Given the description of an element on the screen output the (x, y) to click on. 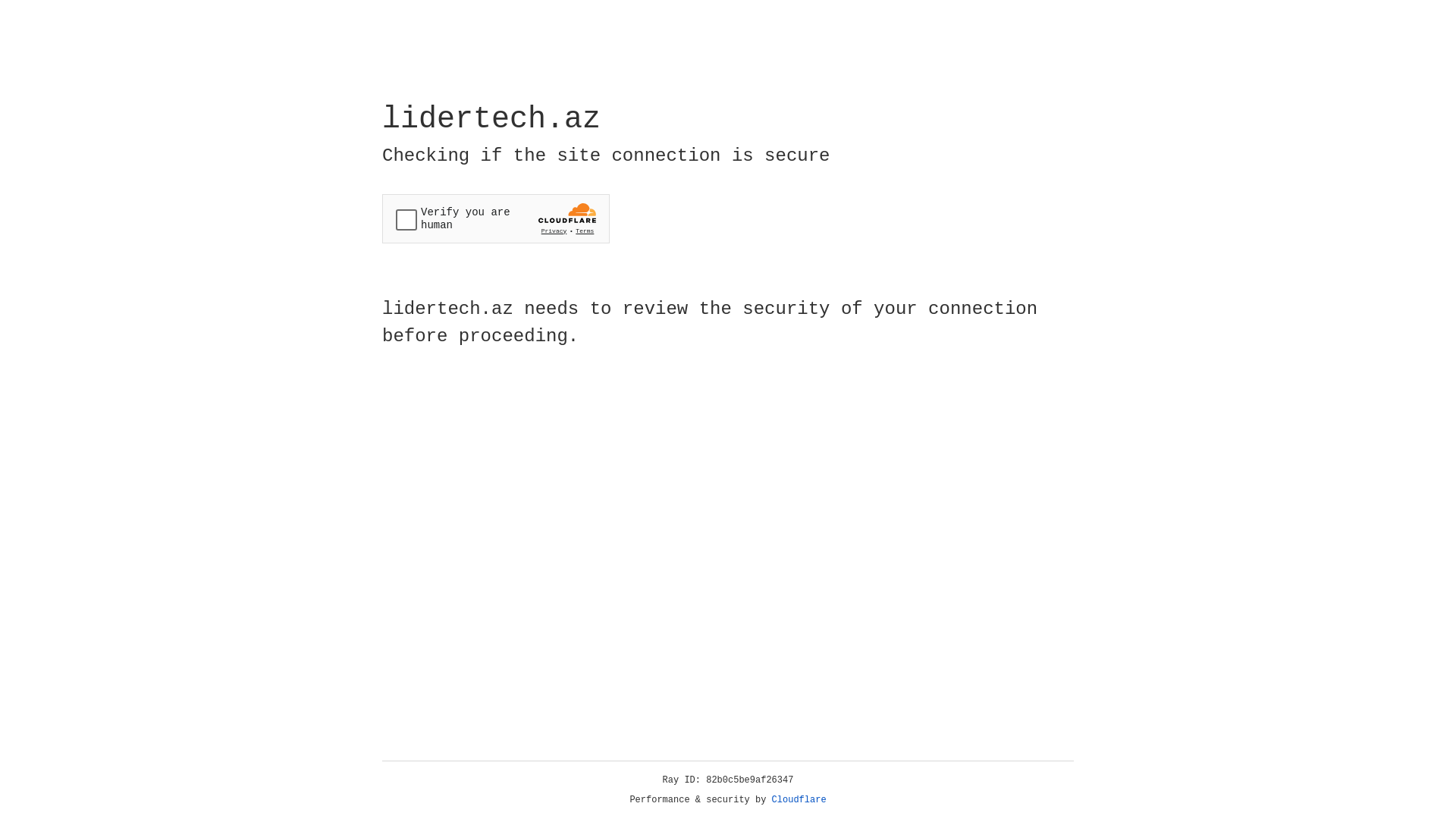
Cloudflare Element type: text (798, 799)
Widget containing a Cloudflare security challenge Element type: hover (495, 218)
